Given the description of an element on the screen output the (x, y) to click on. 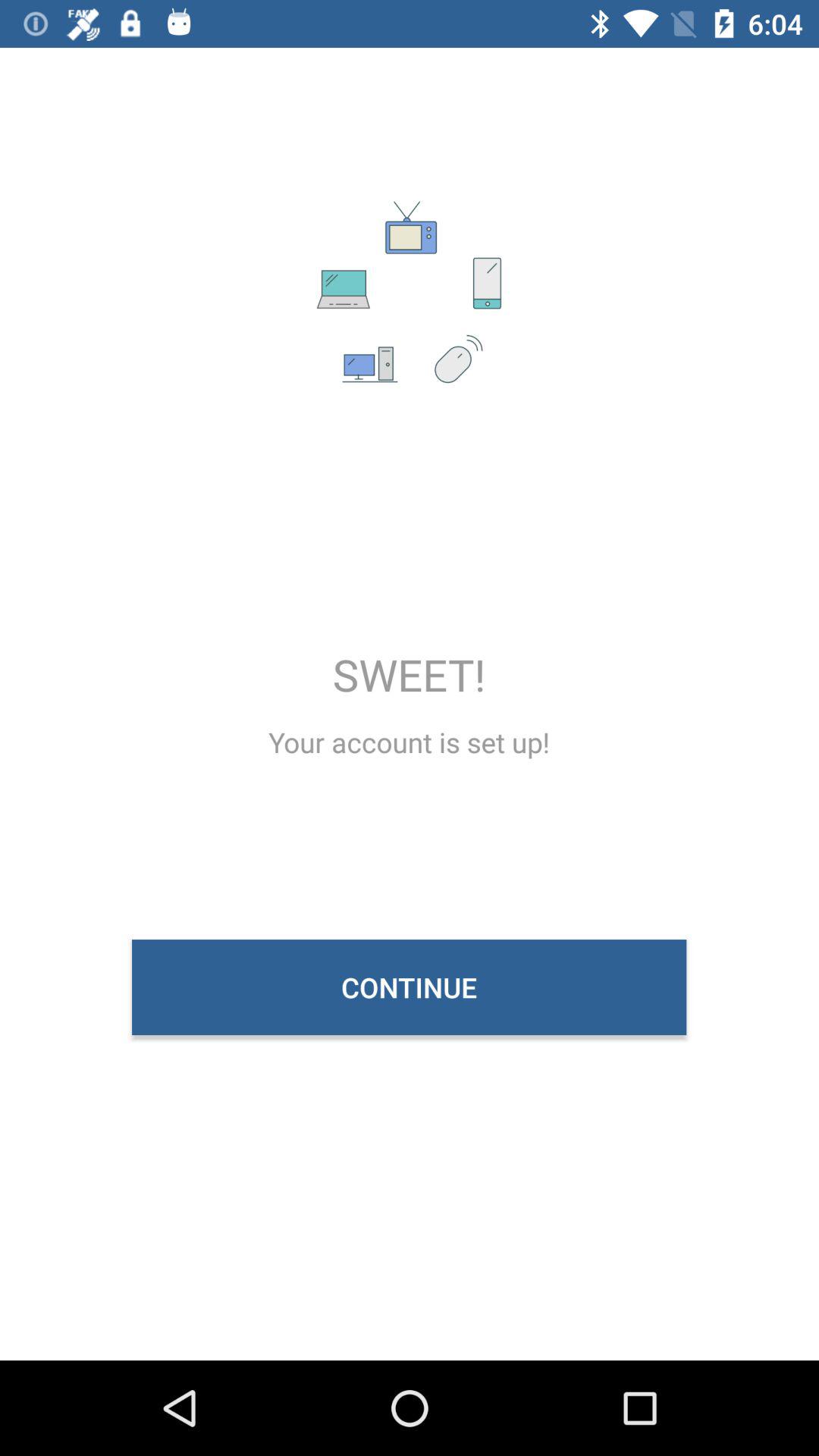
turn off the continue icon (408, 987)
